Given the description of an element on the screen output the (x, y) to click on. 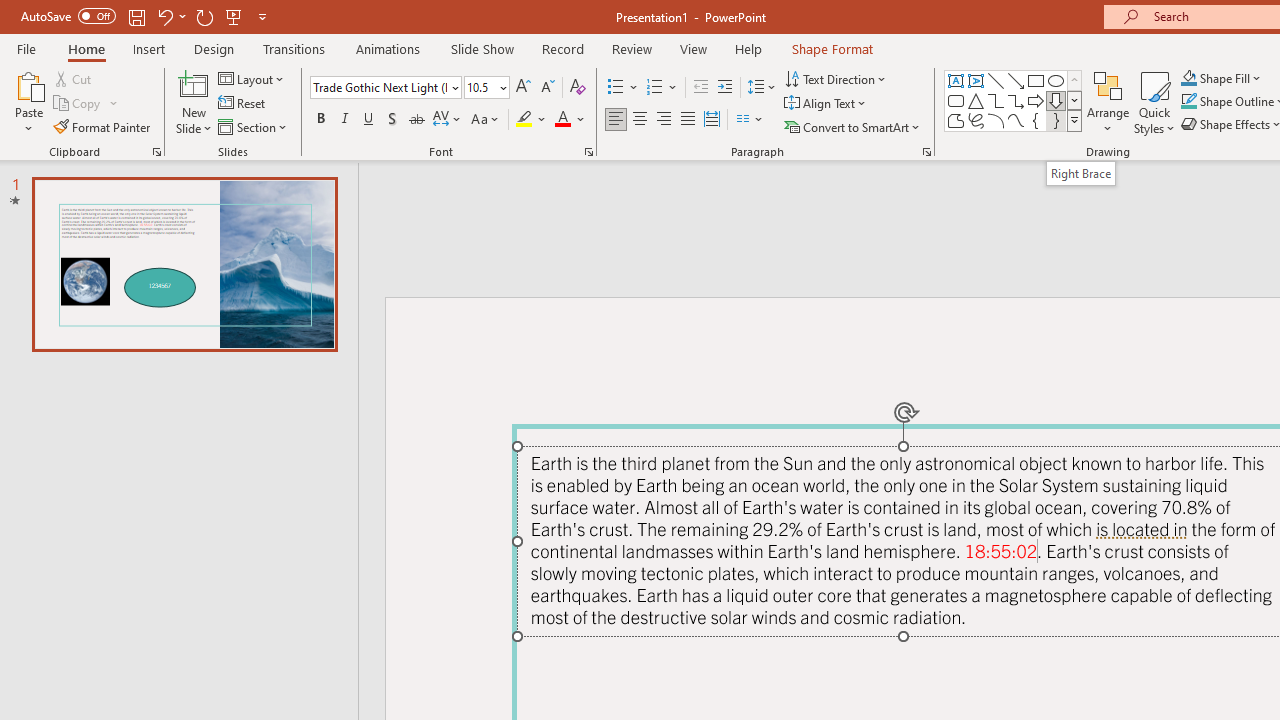
Shape Outline Teal, Accent 1 (1188, 101)
